Given the description of an element on the screen output the (x, y) to click on. 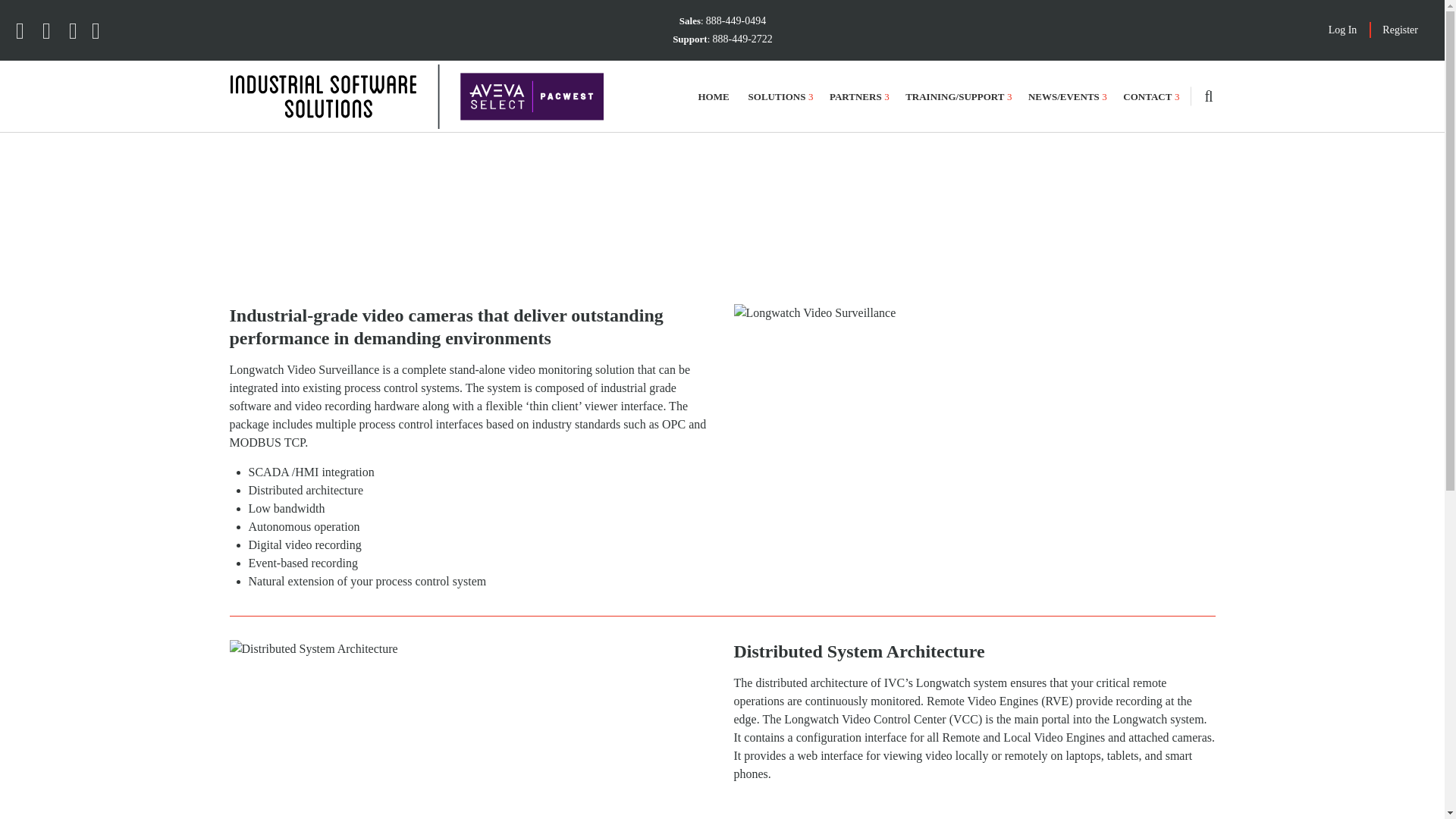
Register (1399, 30)
PARTNERS (857, 95)
888-449-0494 (735, 20)
888-449-2722 (743, 39)
SOLUTIONS (778, 95)
Log In (1341, 30)
